Given the description of an element on the screen output the (x, y) to click on. 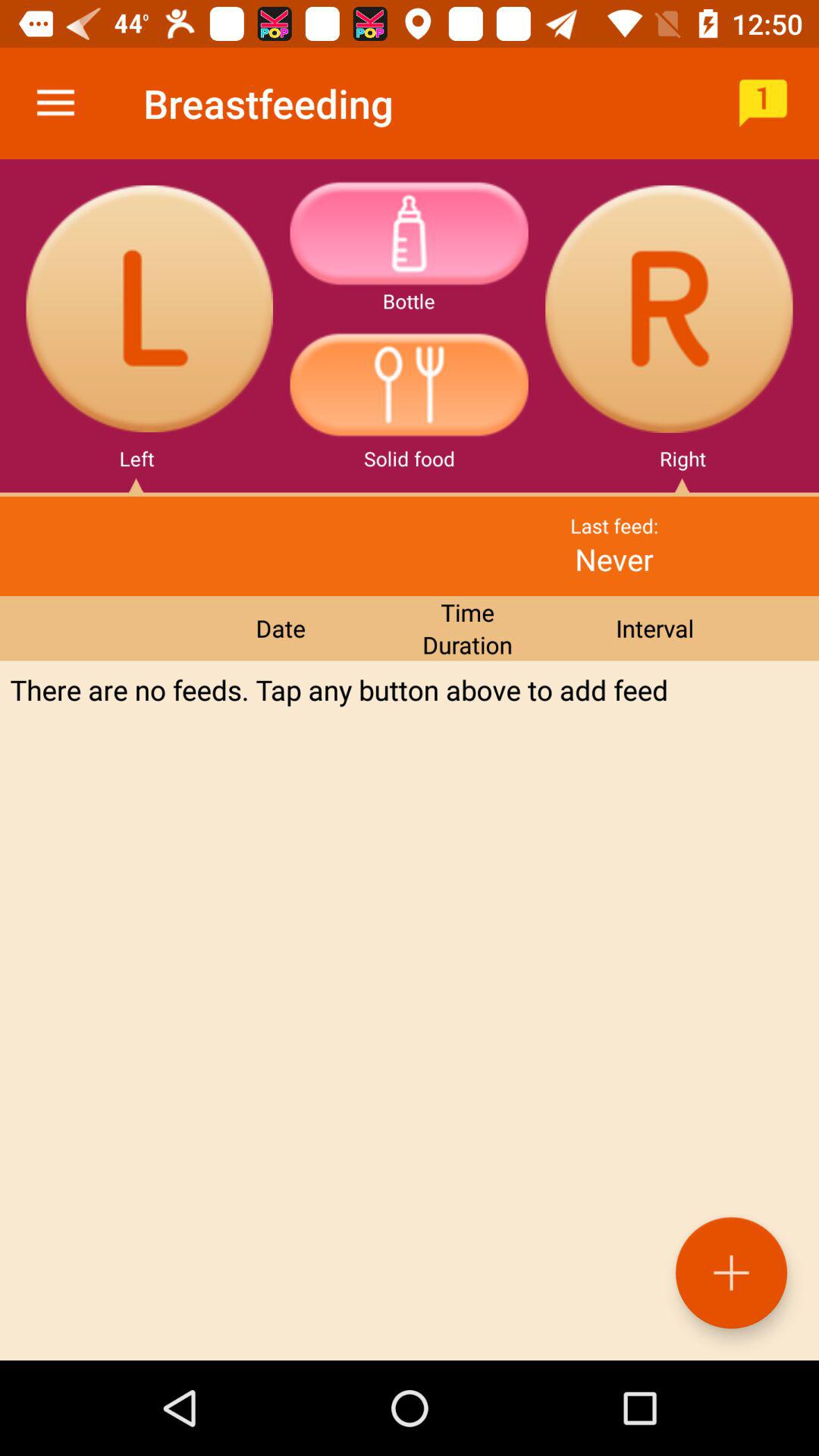
tap icon next to breastfeeding (763, 103)
